Given the description of an element on the screen output the (x, y) to click on. 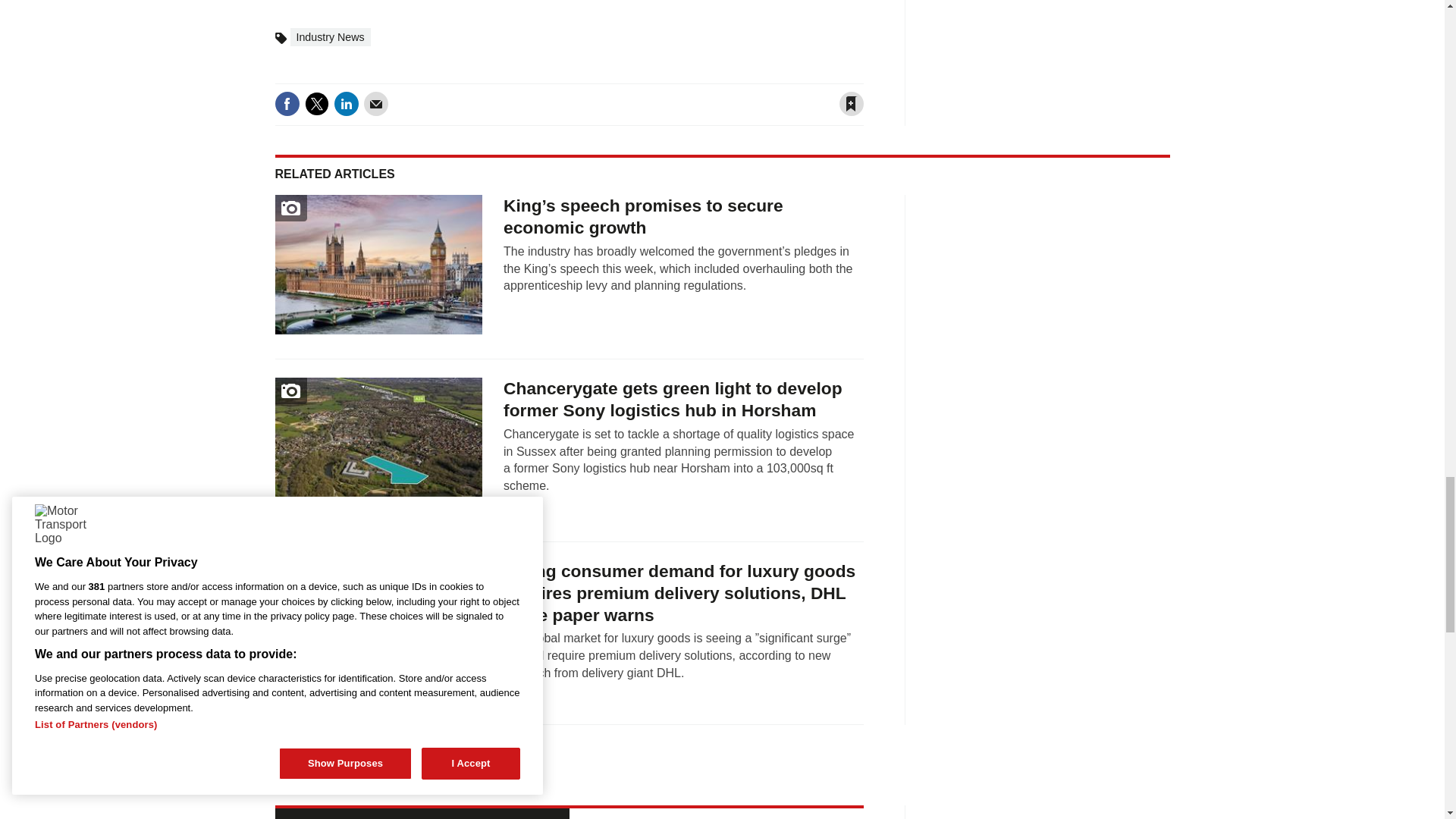
Share this on Facebook (286, 103)
Share this on Linked in (345, 103)
Share this on Twitter (316, 103)
Email this article (376, 103)
